Given the description of an element on the screen output the (x, y) to click on. 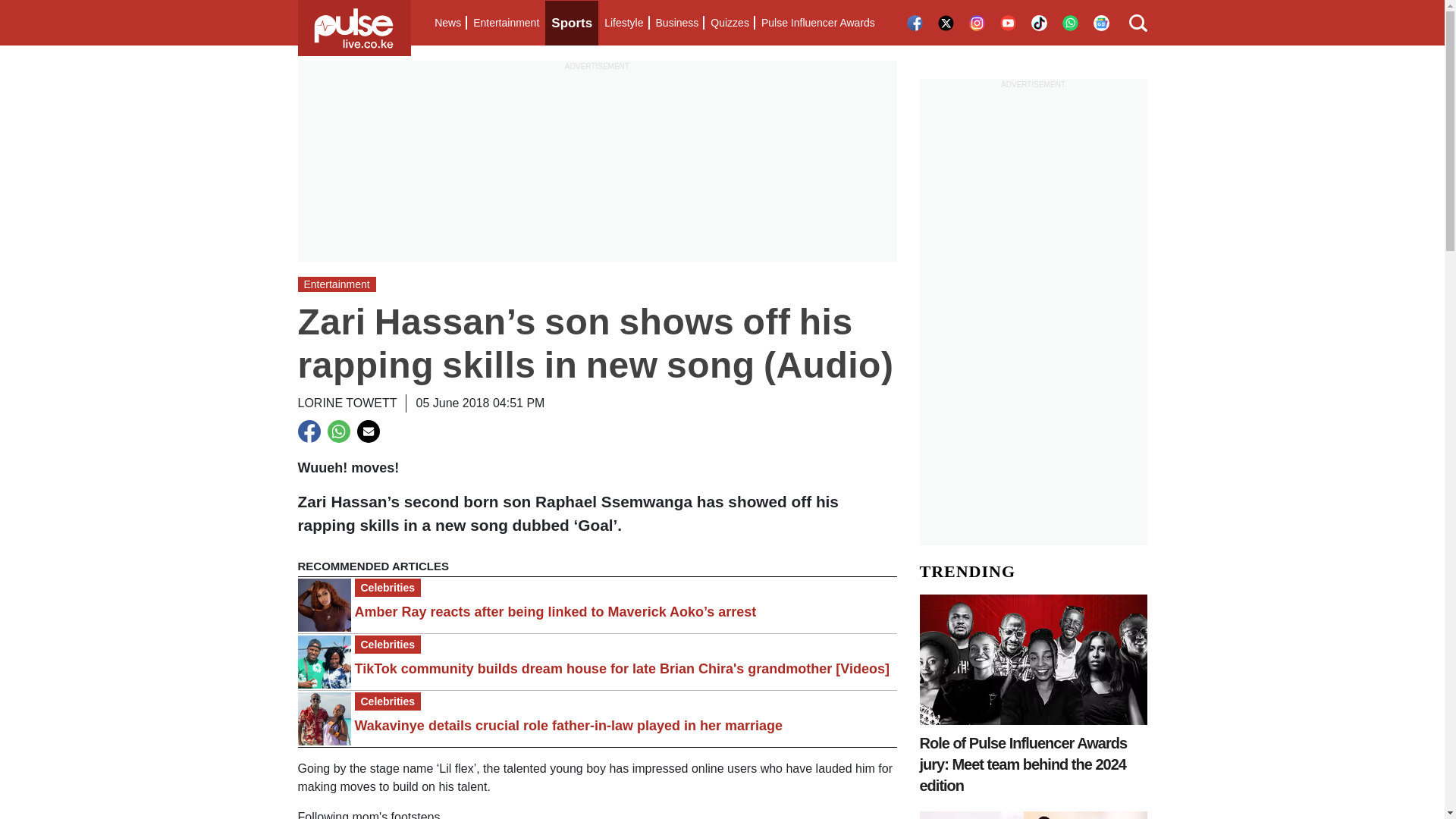
Business (676, 22)
Quizzes (729, 22)
Entertainment (505, 22)
Pulse Influencer Awards (817, 22)
Lifestyle (623, 22)
Sports (571, 22)
